Given the description of an element on the screen output the (x, y) to click on. 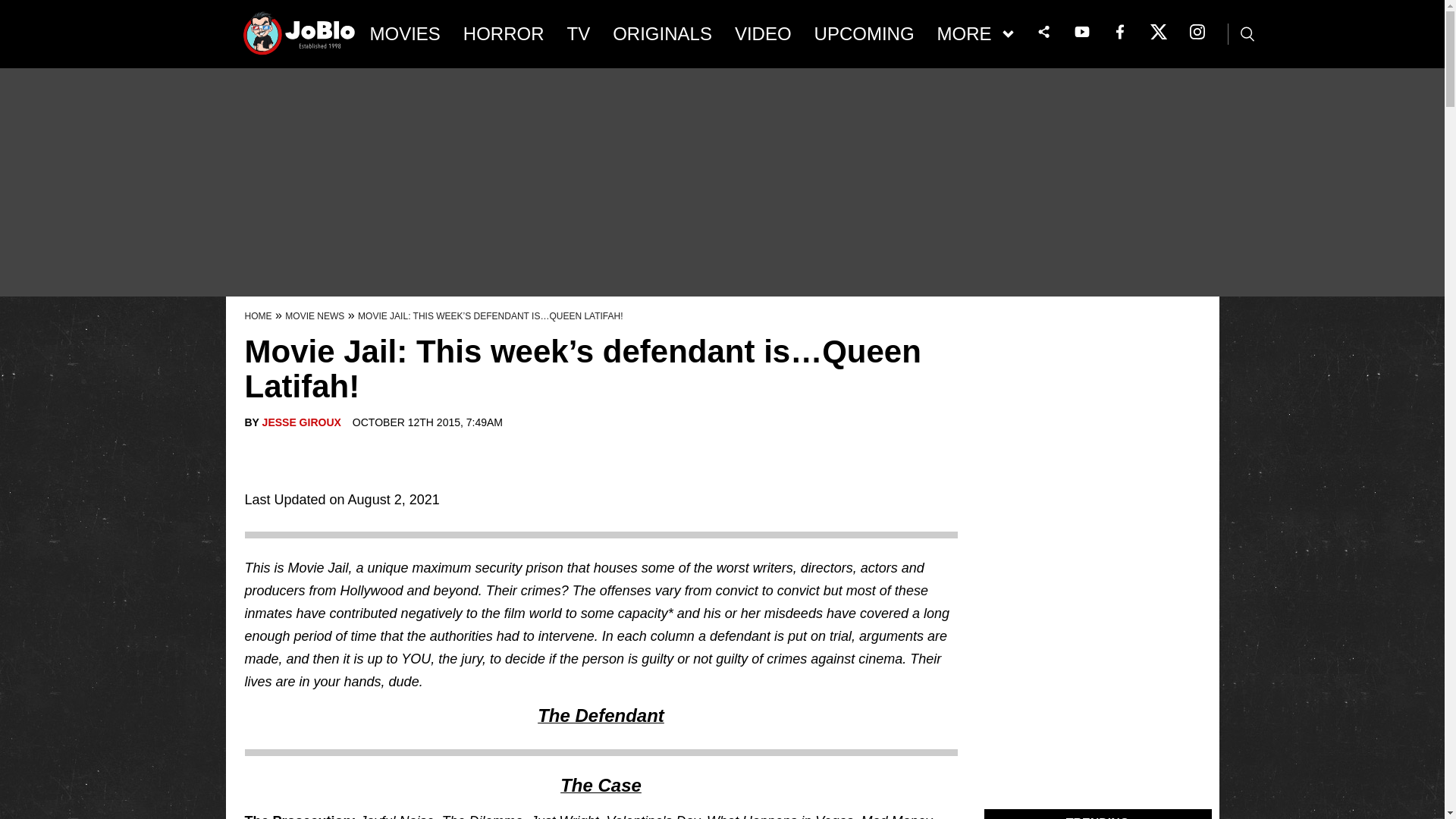
VIDEO (762, 34)
UPCOMING (863, 34)
MORE (976, 34)
ORIGINALS (662, 34)
Go (13, 7)
TV (578, 34)
HORROR (503, 34)
MOVIES (405, 34)
JoBlo Logo (299, 38)
